Given the description of an element on the screen output the (x, y) to click on. 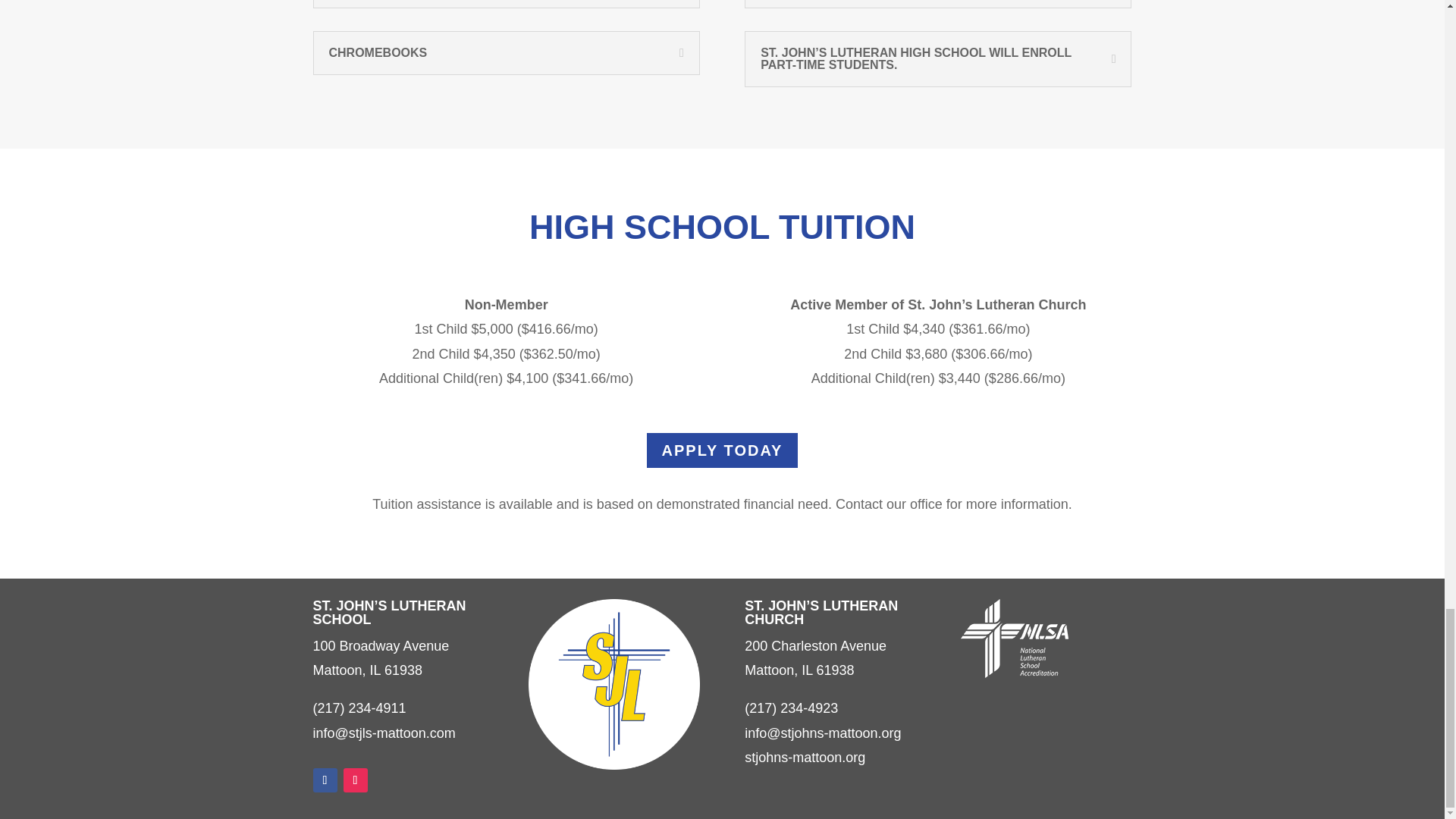
Follow on Instagram (354, 780)
SJL-Icon (613, 683)
Follow on Facebook (324, 780)
National Lutheran School Accreditation (1014, 638)
